Given the description of an element on the screen output the (x, y) to click on. 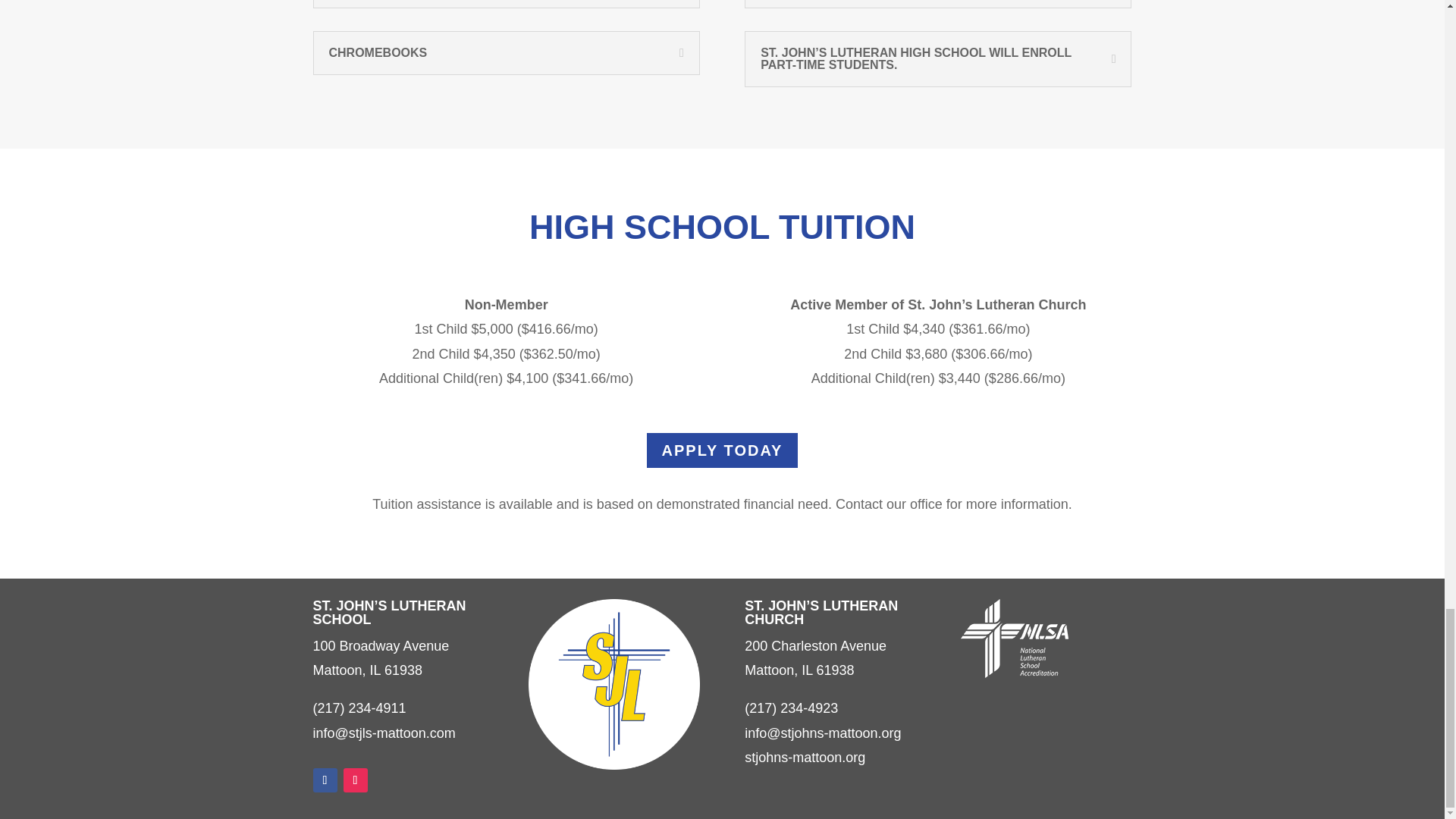
Follow on Instagram (354, 780)
SJL-Icon (613, 683)
Follow on Facebook (324, 780)
National Lutheran School Accreditation (1014, 638)
